Given the description of an element on the screen output the (x, y) to click on. 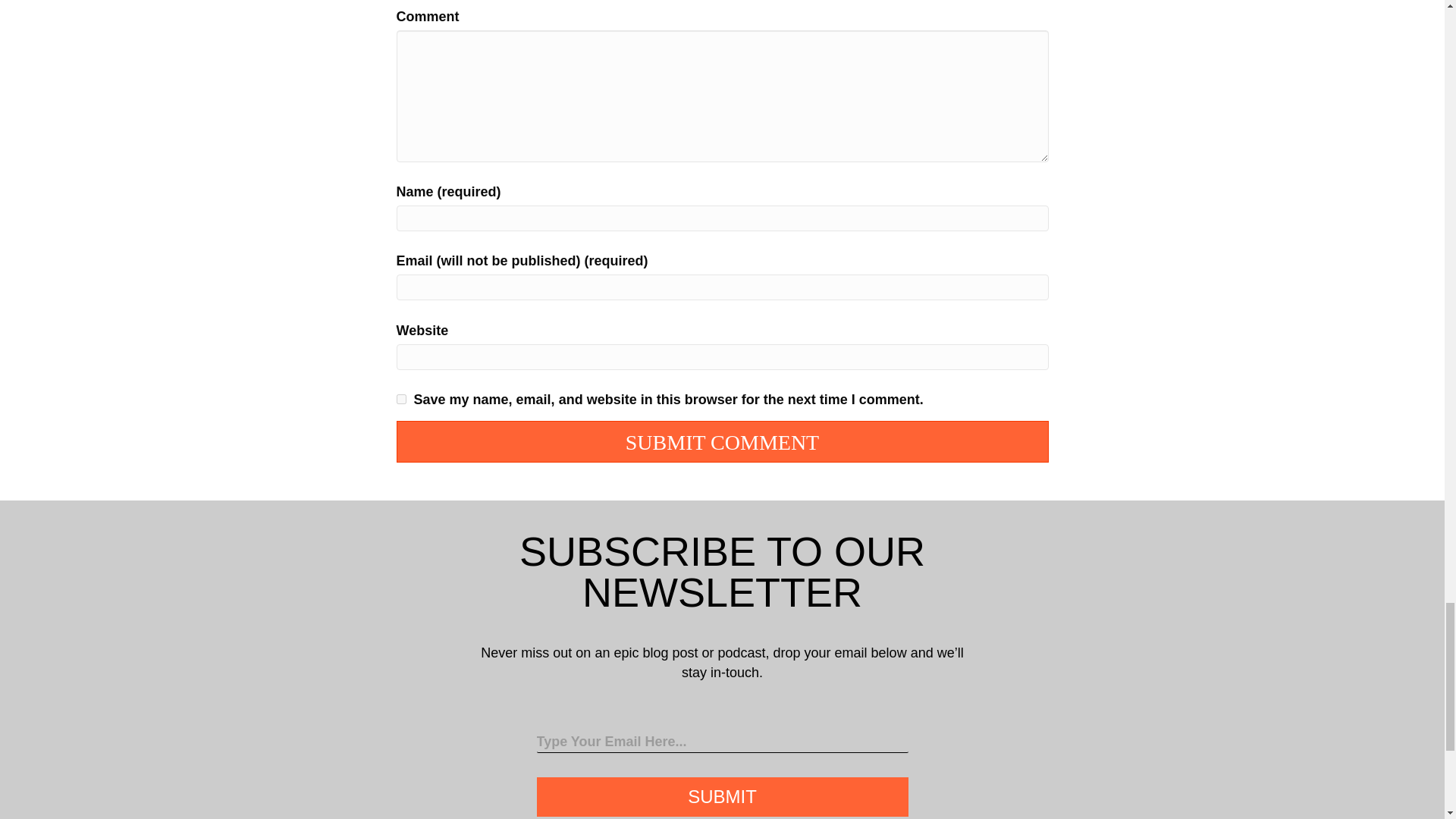
Submit Comment (722, 441)
yes (401, 398)
Submit (722, 797)
